Given the description of an element on the screen output the (x, y) to click on. 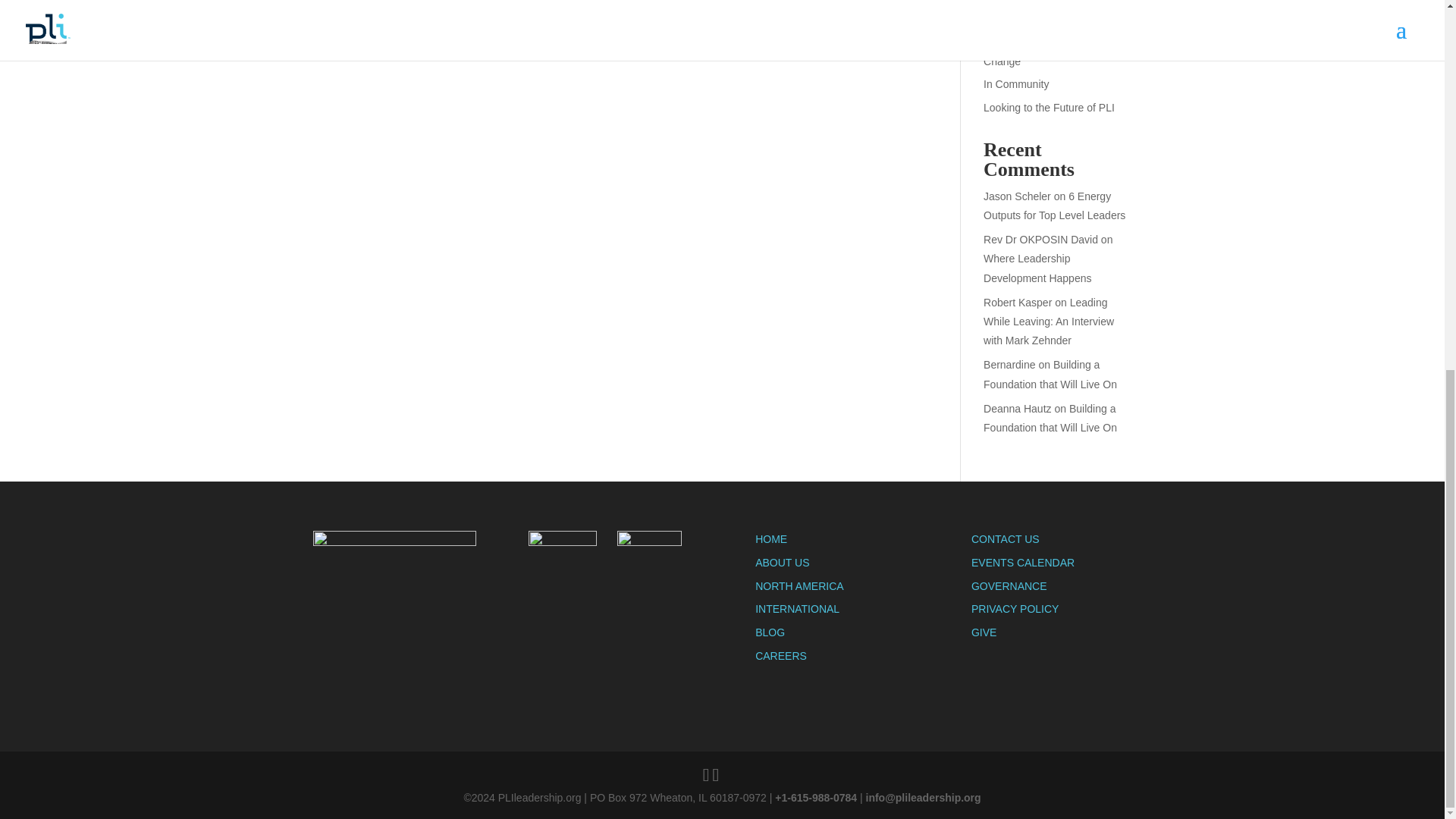
Jason Scheler (1017, 196)
Vision Traction: The Need for Change (1052, 51)
6 Energy Outputs for Top Level Leaders (1054, 205)
Looking to the Future of PLI (1049, 107)
In Community (1016, 83)
Vision Traction: Your Context and Mission (1051, 12)
